Given the description of an element on the screen output the (x, y) to click on. 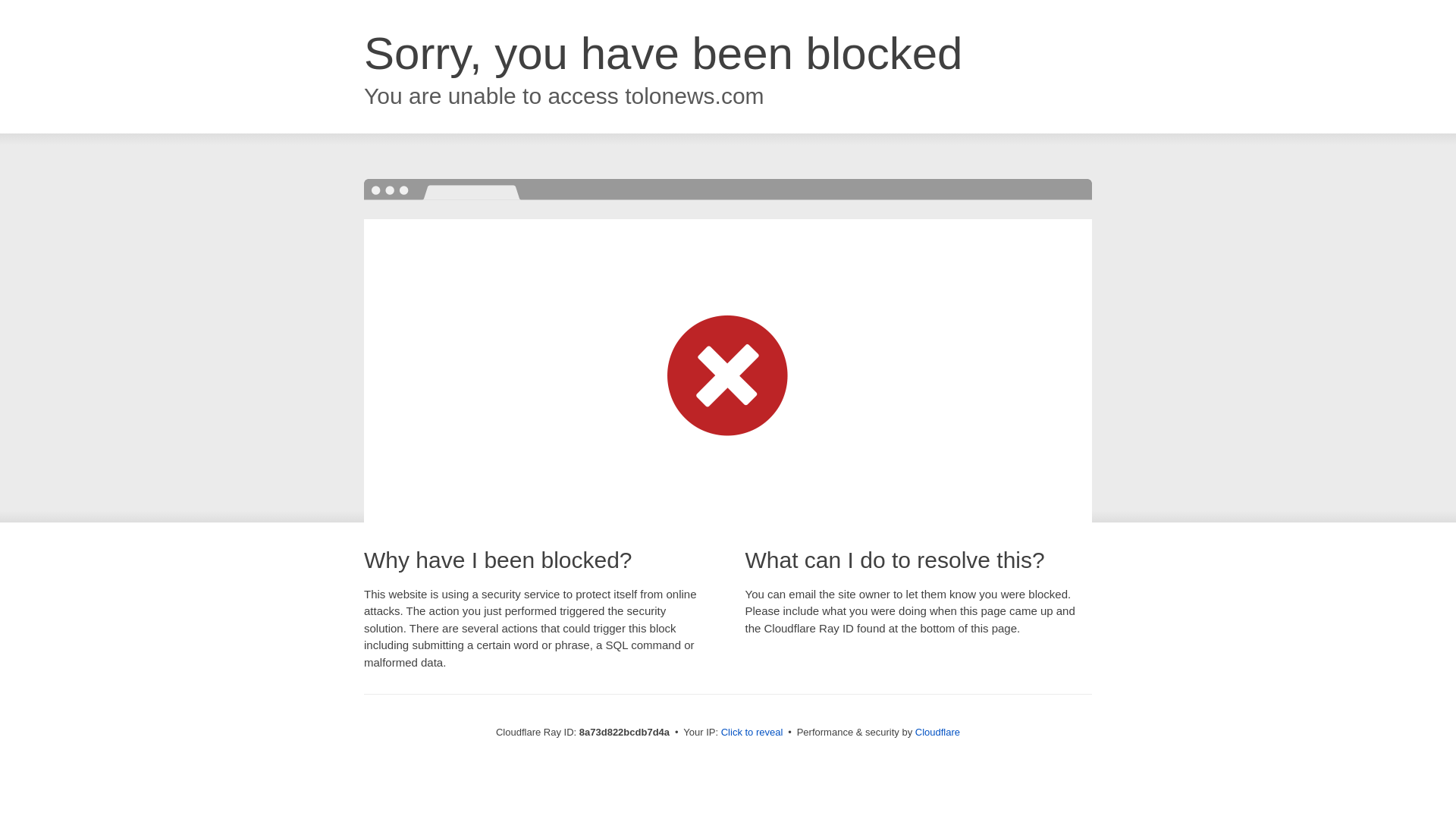
Cloudflare (937, 731)
Click to reveal (751, 732)
